Given the description of an element on the screen output the (x, y) to click on. 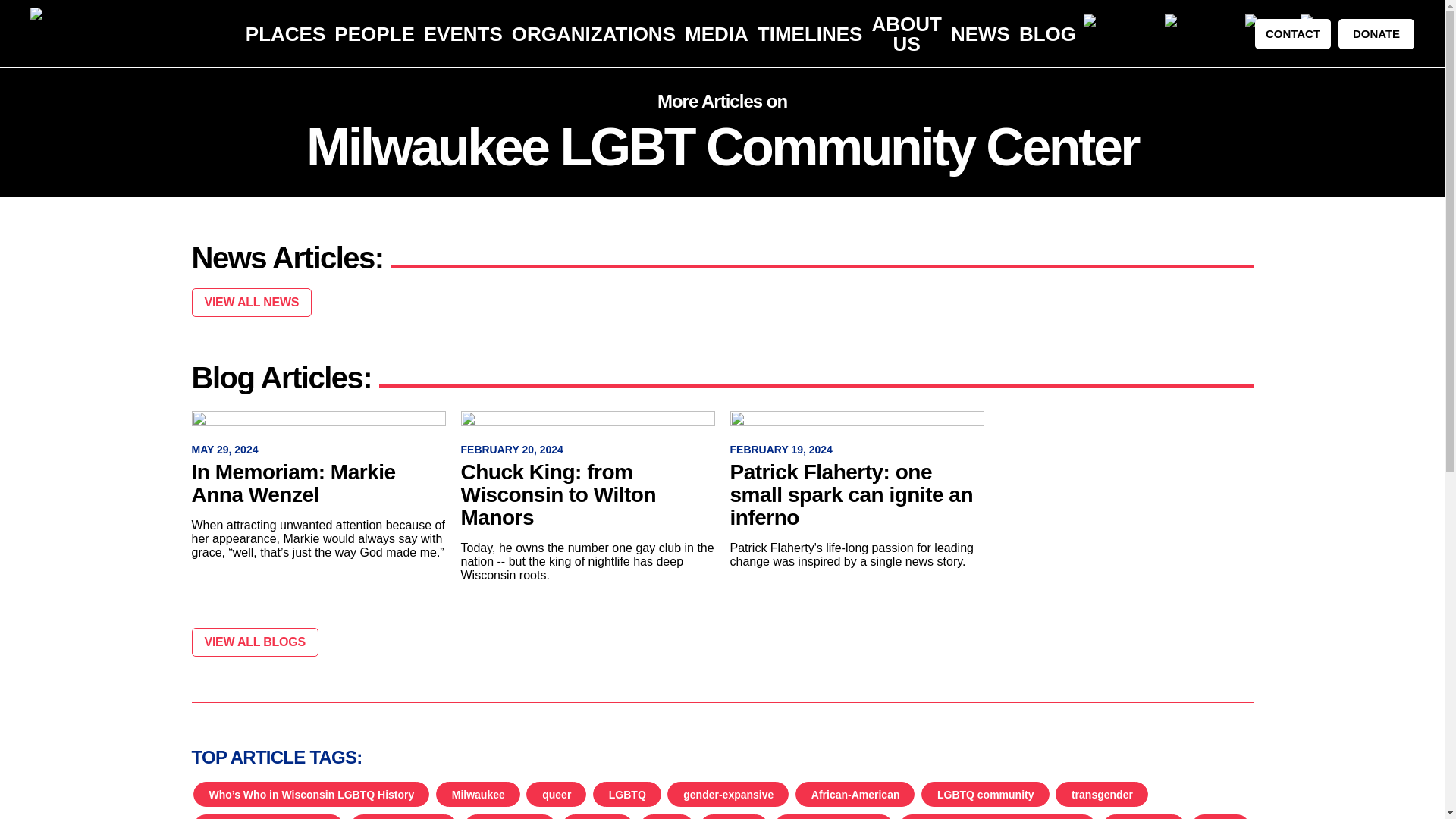
ABOUT US (905, 34)
PEOPLE (373, 34)
NEWS (980, 34)
TIMELINES (810, 34)
MEDIA (716, 34)
CONTACT (1292, 33)
PLACES (285, 34)
DONATE (1375, 33)
ORGANIZATIONS (593, 34)
BLOG (1047, 34)
